Given the description of an element on the screen output the (x, y) to click on. 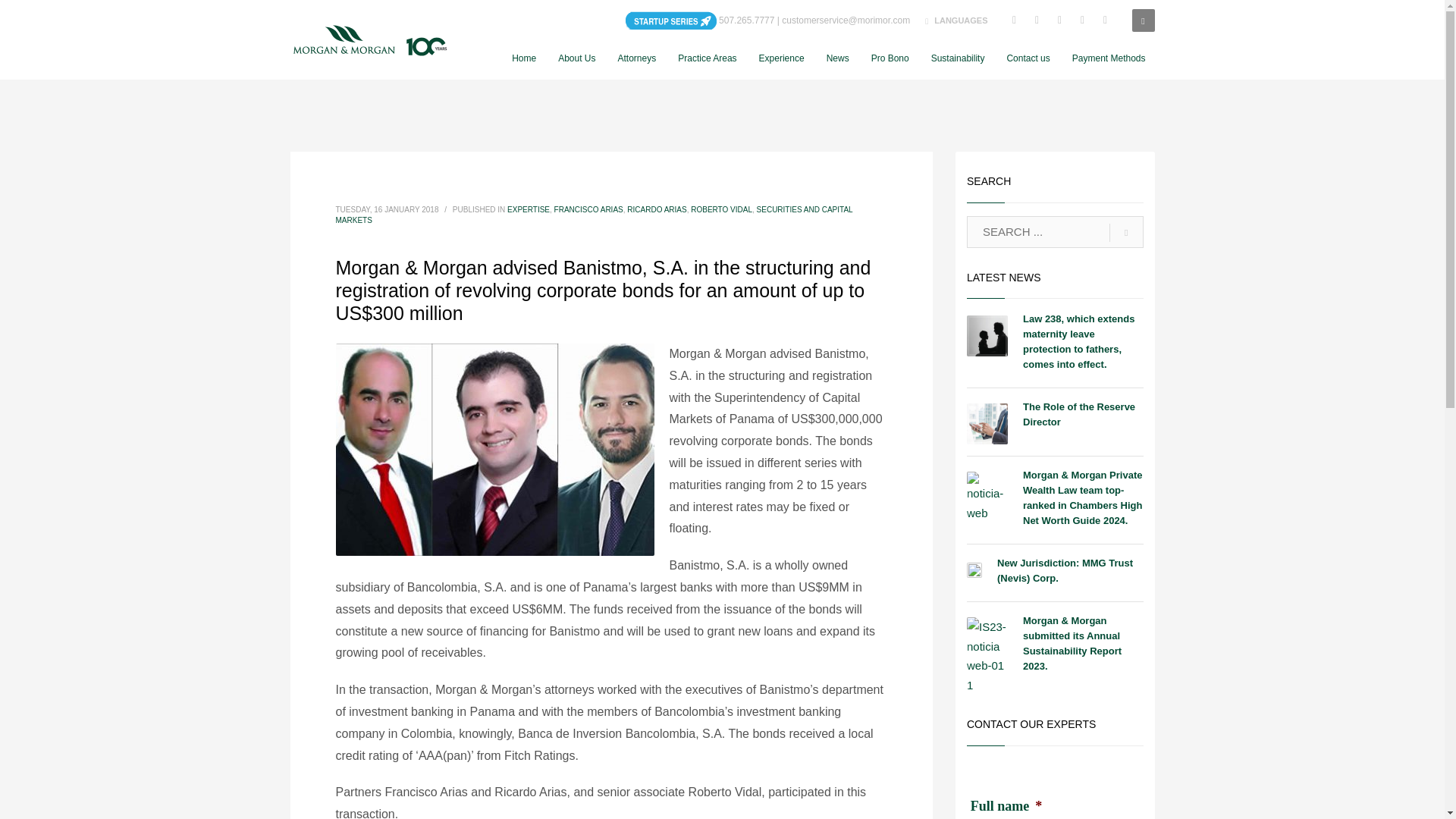
Facebook (1037, 20)
Home (523, 57)
linkedin (1014, 20)
About Us (576, 57)
LANGUAGES (955, 20)
Youtube (1082, 20)
Attorneys (636, 57)
Twitter (1059, 20)
Practice Areas (706, 57)
